Given the description of an element on the screen output the (x, y) to click on. 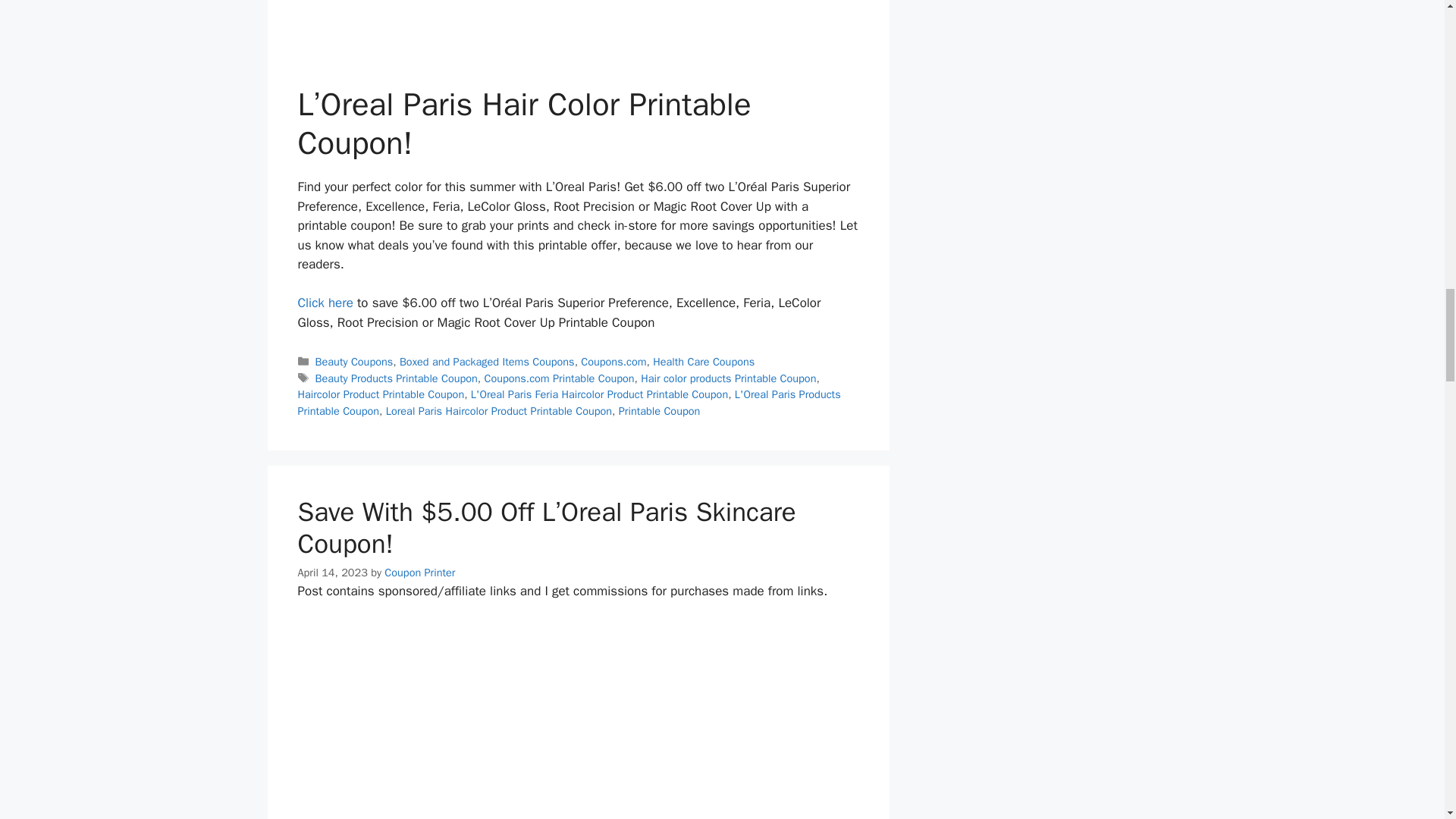
View all posts by Coupon Printer (419, 572)
